Given the description of an element on the screen output the (x, y) to click on. 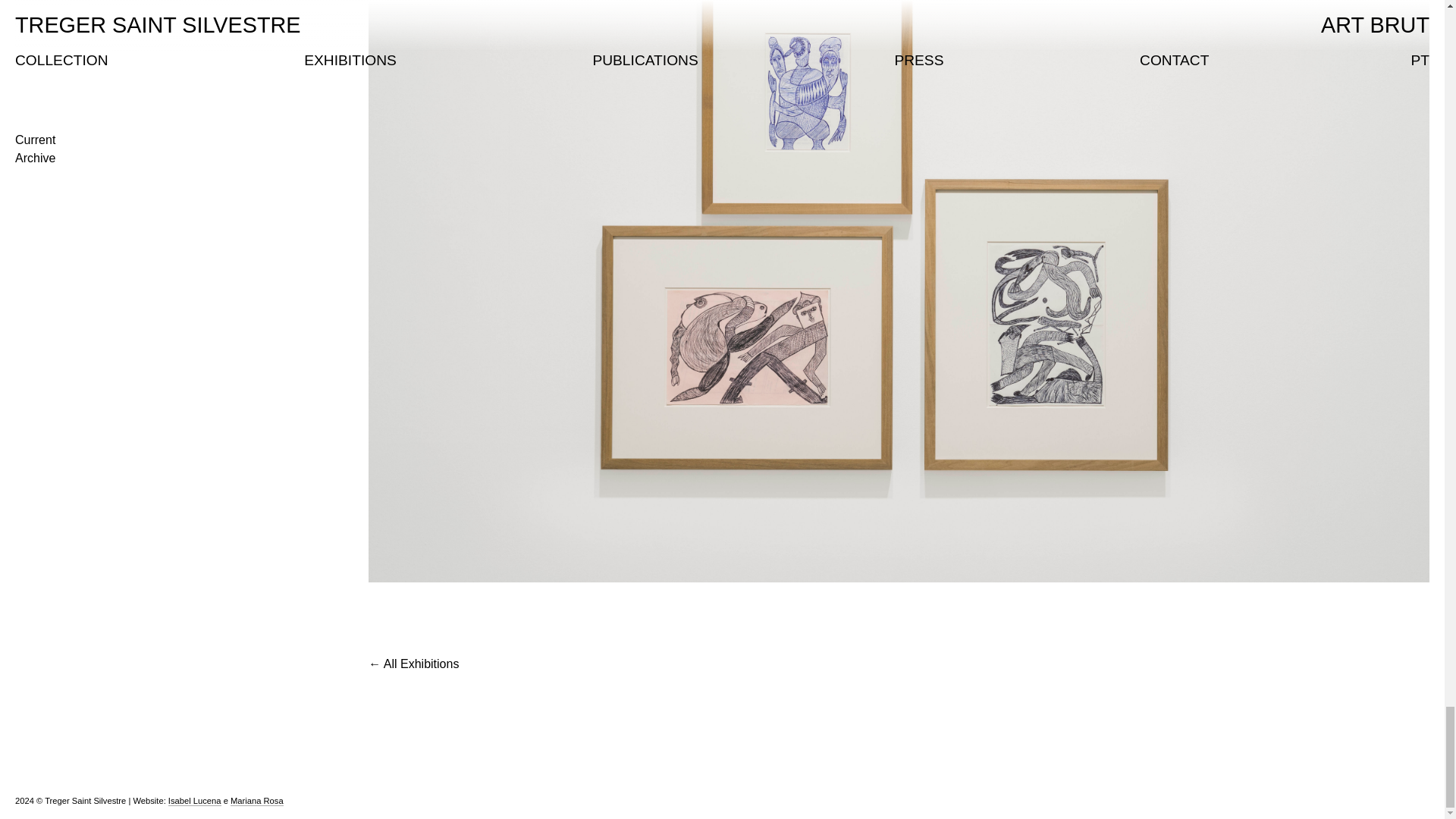
Mariana Rosa (256, 800)
Isabel Lucena (194, 800)
